Given the description of an element on the screen output the (x, y) to click on. 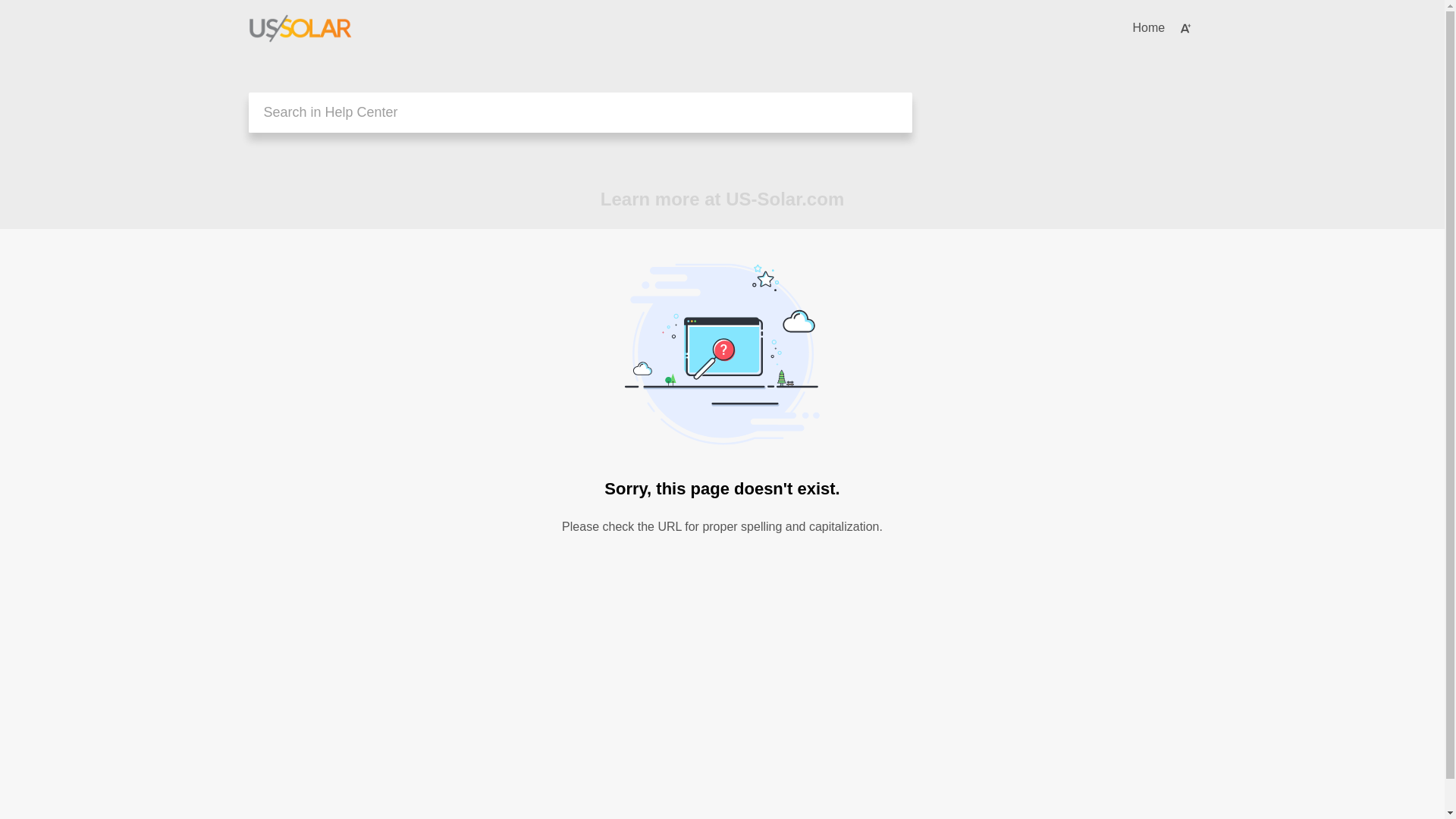
Home (1148, 27)
Home (1148, 27)
